Given the description of an element on the screen output the (x, y) to click on. 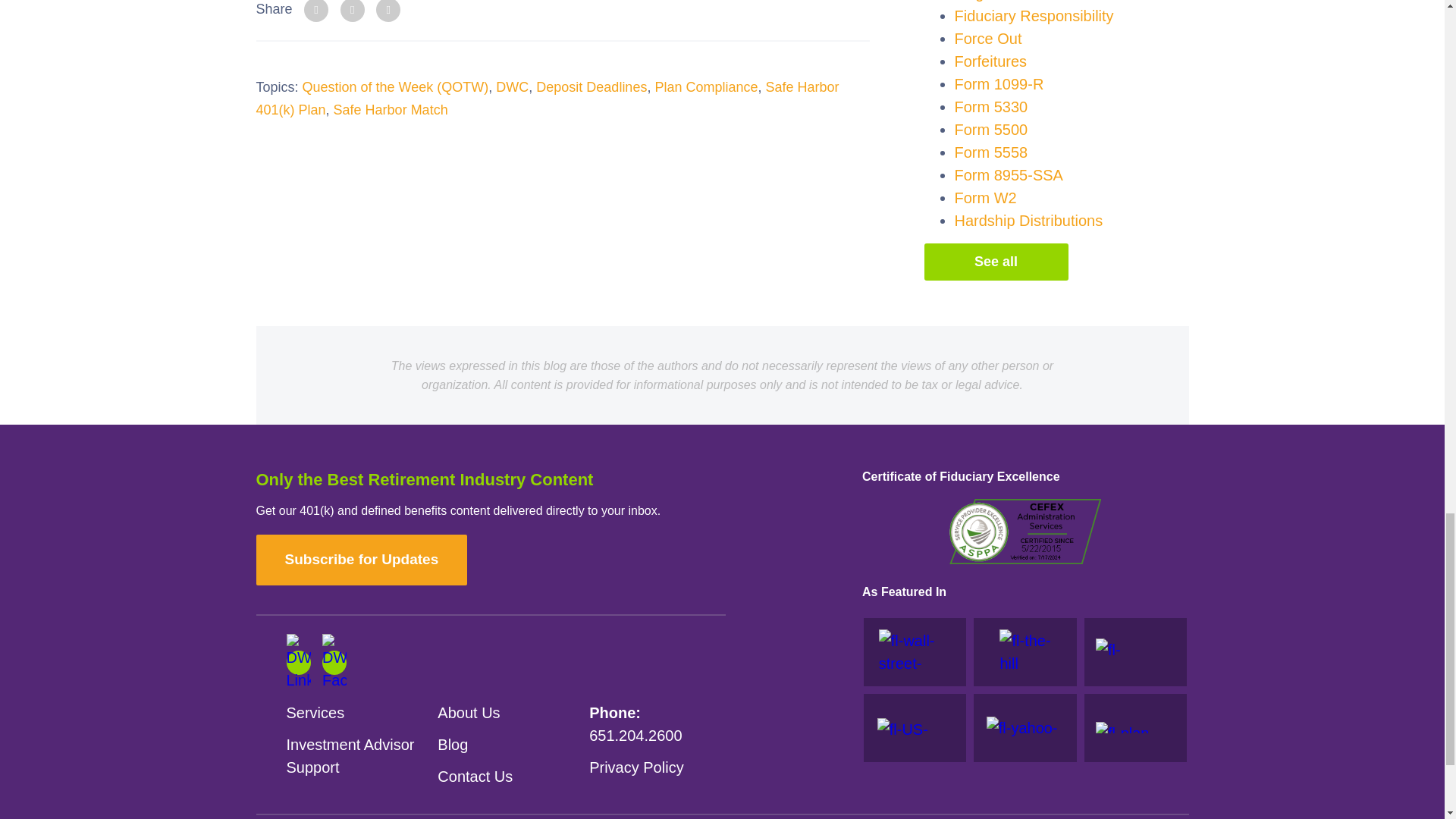
Share on LinkedIn (316, 11)
Share on Facebook (352, 11)
